Given the description of an element on the screen output the (x, y) to click on. 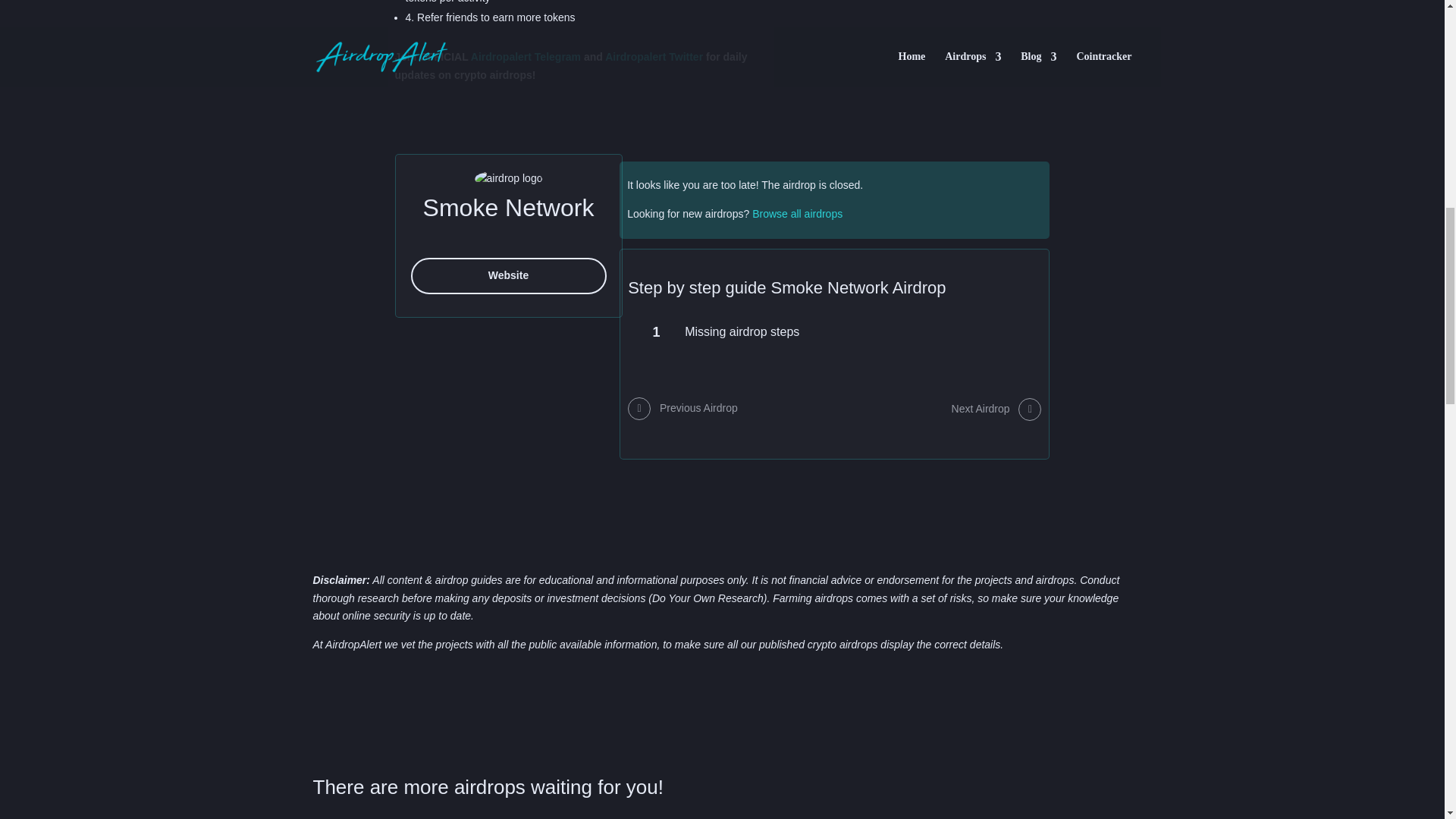
Next Airdrop (997, 408)
Website (508, 275)
Airdropalert Twitter (654, 56)
Browse all airdrops (797, 214)
Previous Airdrop (682, 408)
Airdropalert Telegram (525, 56)
